Given the description of an element on the screen output the (x, y) to click on. 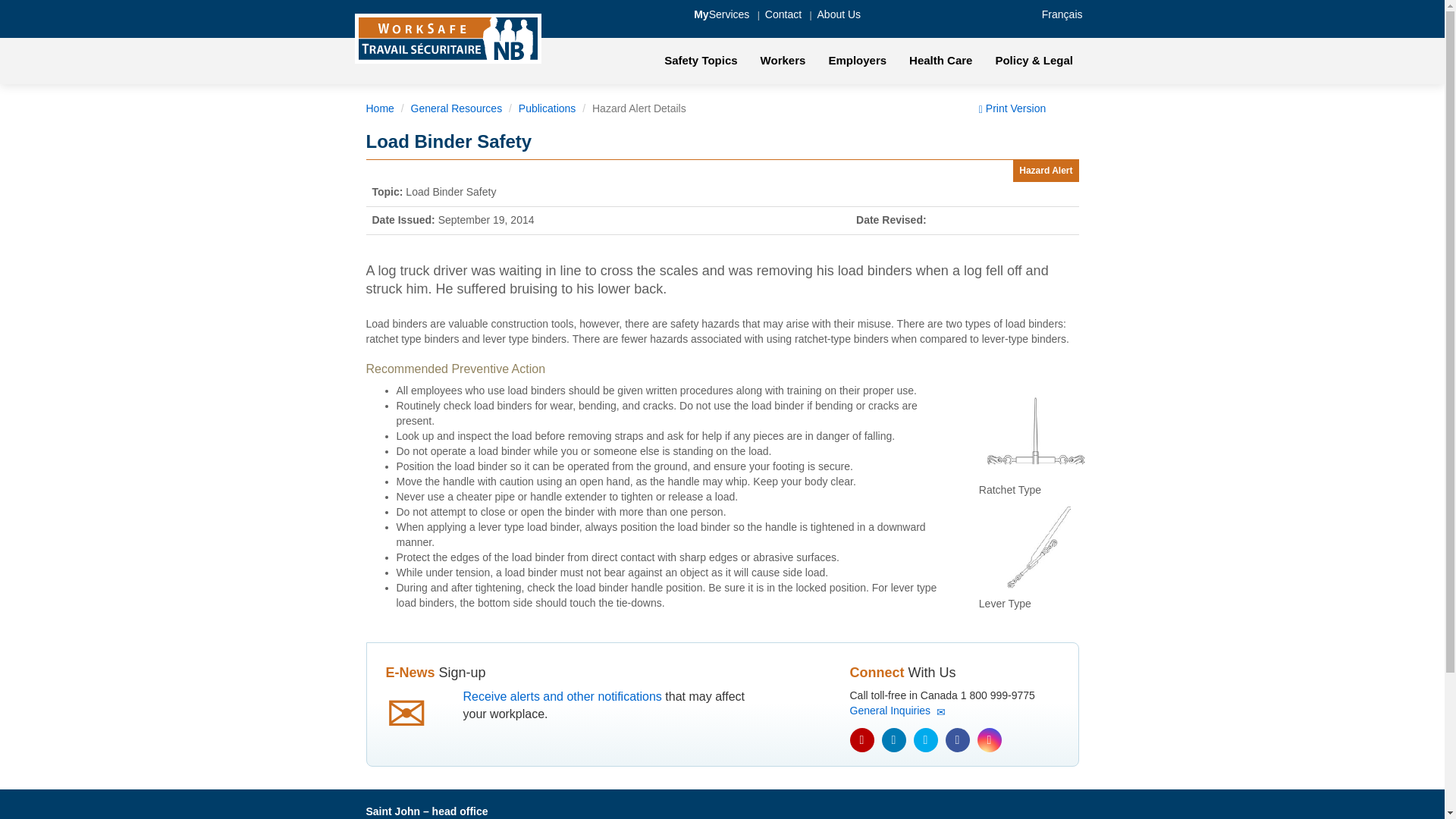
Twitter (924, 740)
Print (1011, 108)
Receive alerts and other notifications (562, 696)
MyServices (721, 14)
About Us (838, 14)
youtube icon (860, 740)
Contact (783, 14)
Instagram (988, 740)
Instagram icon (988, 740)
MyServices (721, 14)
General Resources (456, 108)
Health Care (941, 60)
General Inquiries   (896, 710)
YouTube (860, 740)
About Us (838, 14)
